Given the description of an element on the screen output the (x, y) to click on. 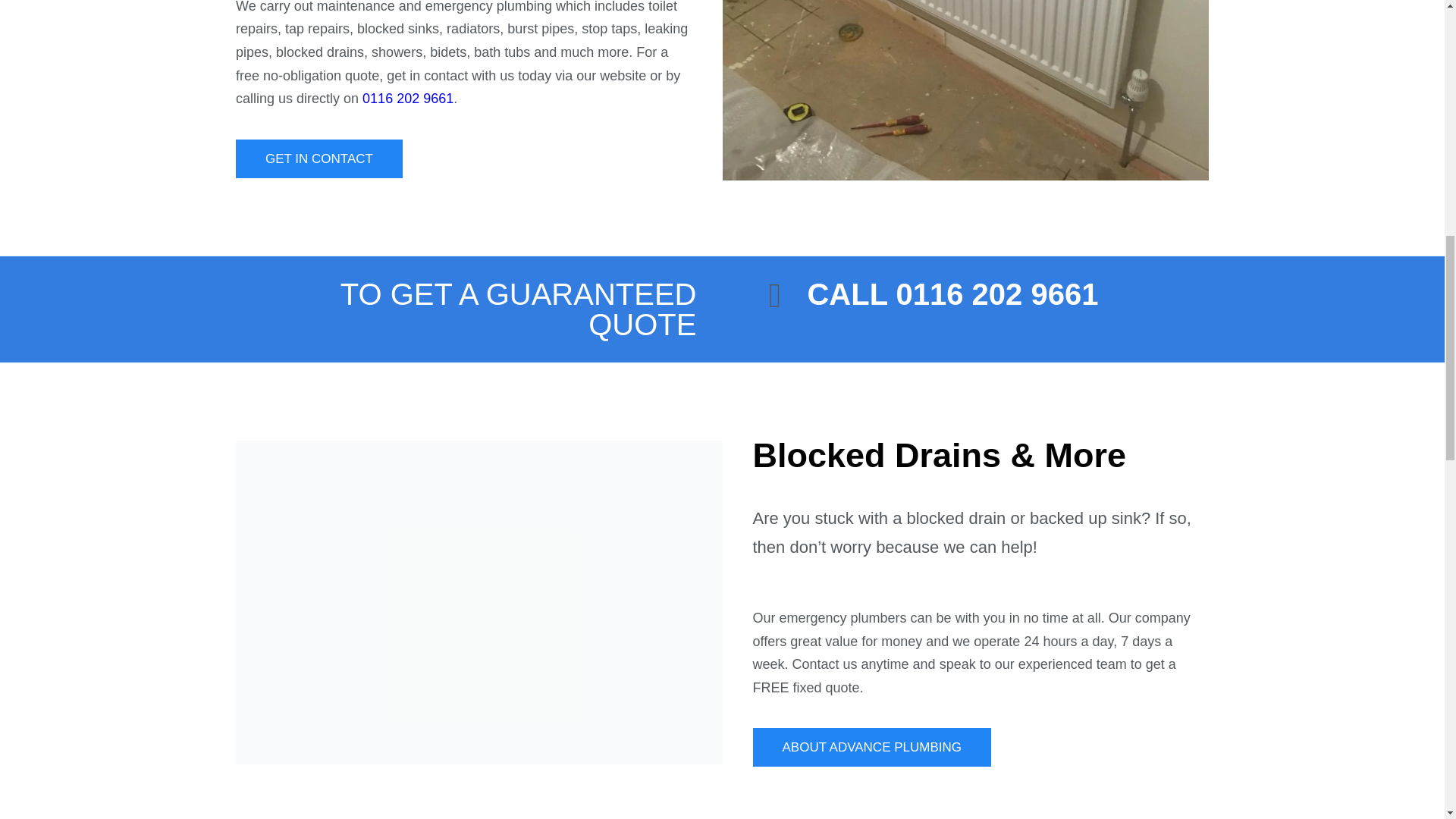
GET IN CONTACT (319, 158)
0116 202 9661 (407, 98)
ABOUT ADVANCE PLUMBING (871, 747)
CALL 0116 202 9661 (951, 294)
